Given the description of an element on the screen output the (x, y) to click on. 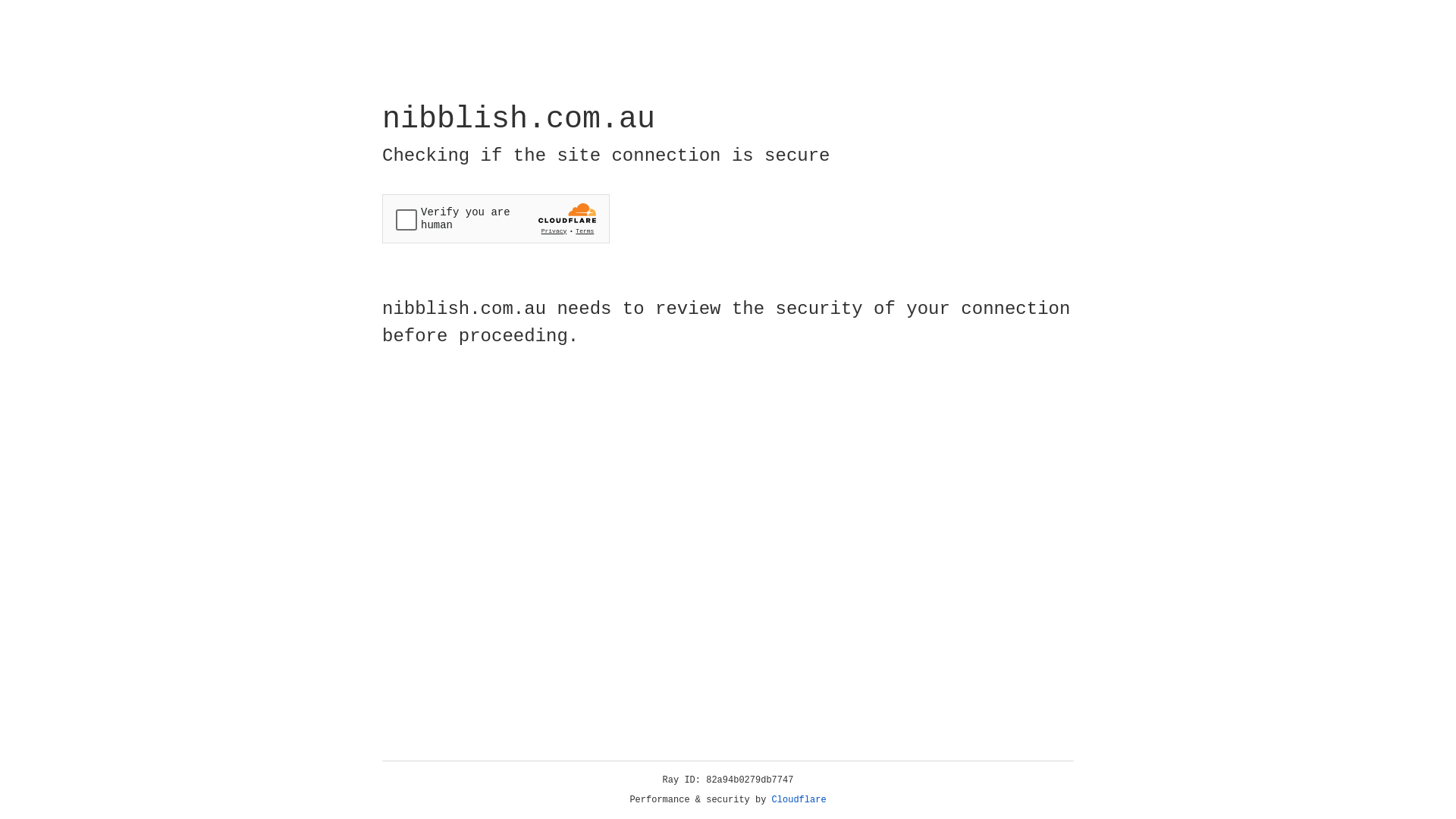
Widget containing a Cloudflare security challenge Element type: hover (495, 218)
Cloudflare Element type: text (798, 799)
